Given the description of an element on the screen output the (x, y) to click on. 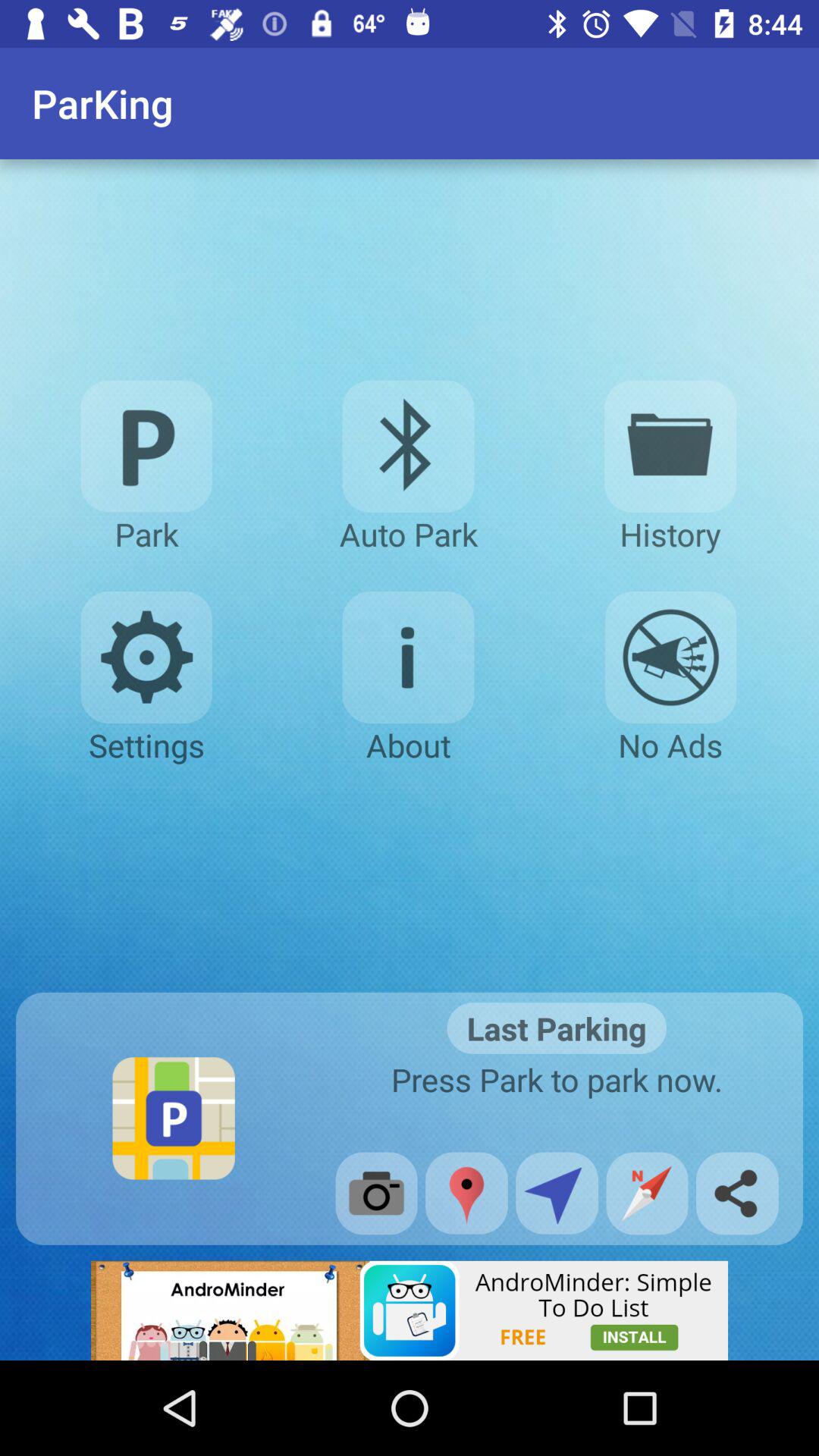
click camera (376, 1193)
